Given the description of an element on the screen output the (x, y) to click on. 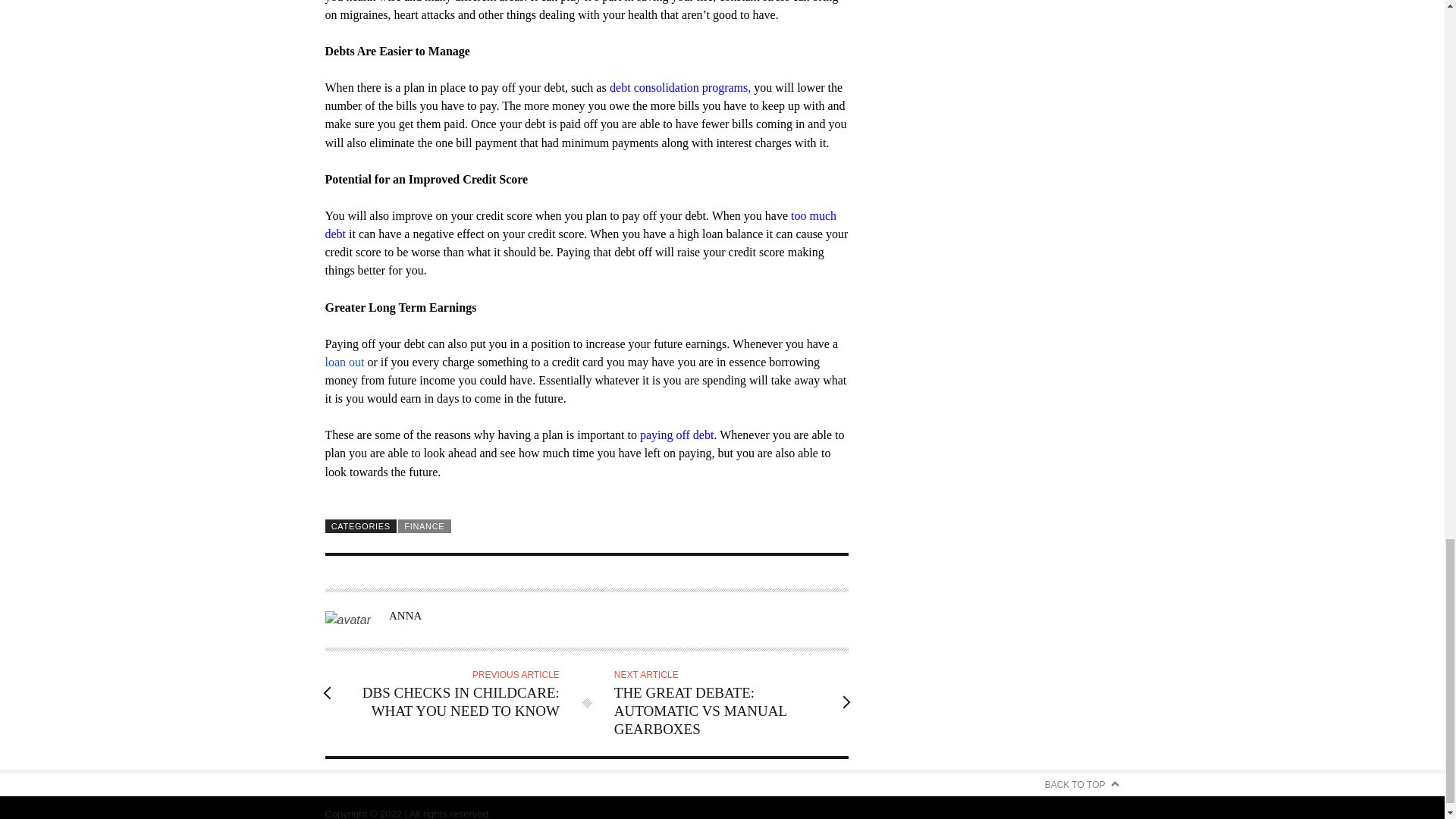
debt consolidation programs (679, 87)
too much debt (579, 224)
Posts by Anna (405, 615)
FINANCE (424, 526)
paying off debt (676, 434)
loan out (344, 361)
View all posts in Finance (424, 526)
ANNA (405, 615)
